Given the description of an element on the screen output the (x, y) to click on. 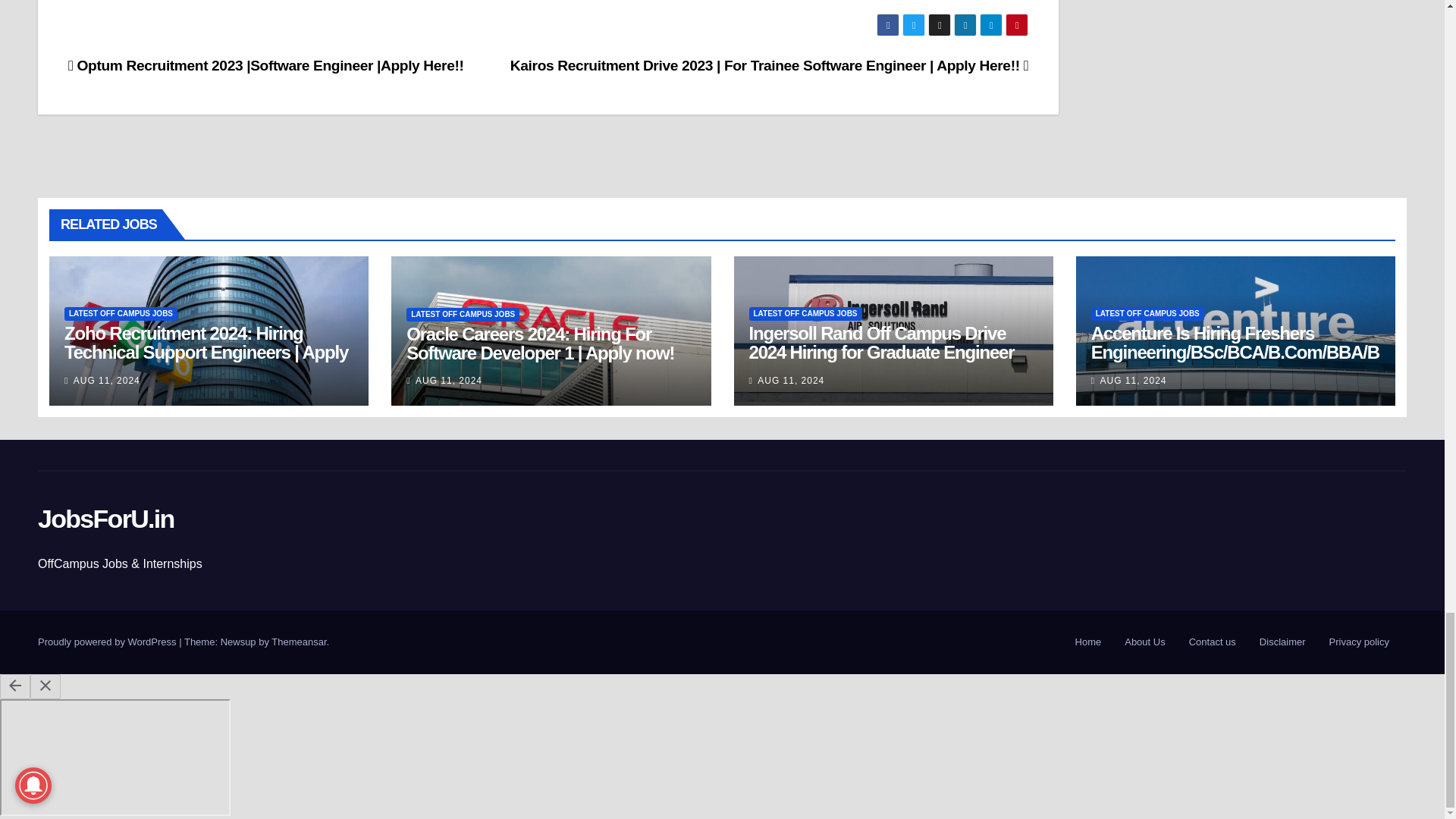
AUG 11, 2024 (447, 380)
LATEST OFF CAMPUS JOBS (805, 314)
LATEST OFF CAMPUS JOBS (120, 314)
AUG 11, 2024 (106, 380)
LATEST OFF CAMPUS JOBS (462, 314)
